Given the description of an element on the screen output the (x, y) to click on. 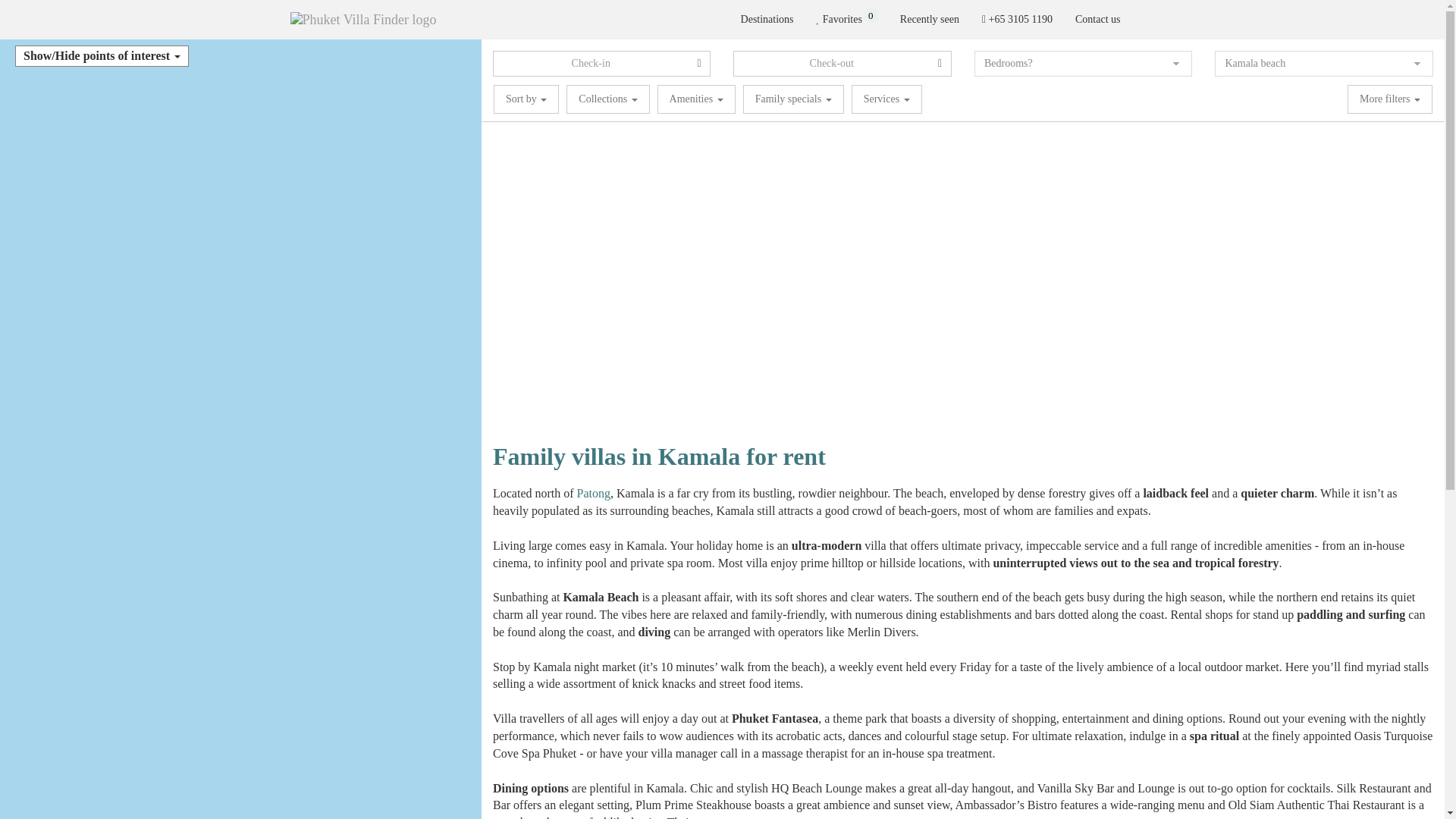
Destinations (767, 19)
Contact us (1098, 19)
Recently seen (929, 19)
Destinations (767, 19)
Contact us (846, 19)
